Given the description of an element on the screen output the (x, y) to click on. 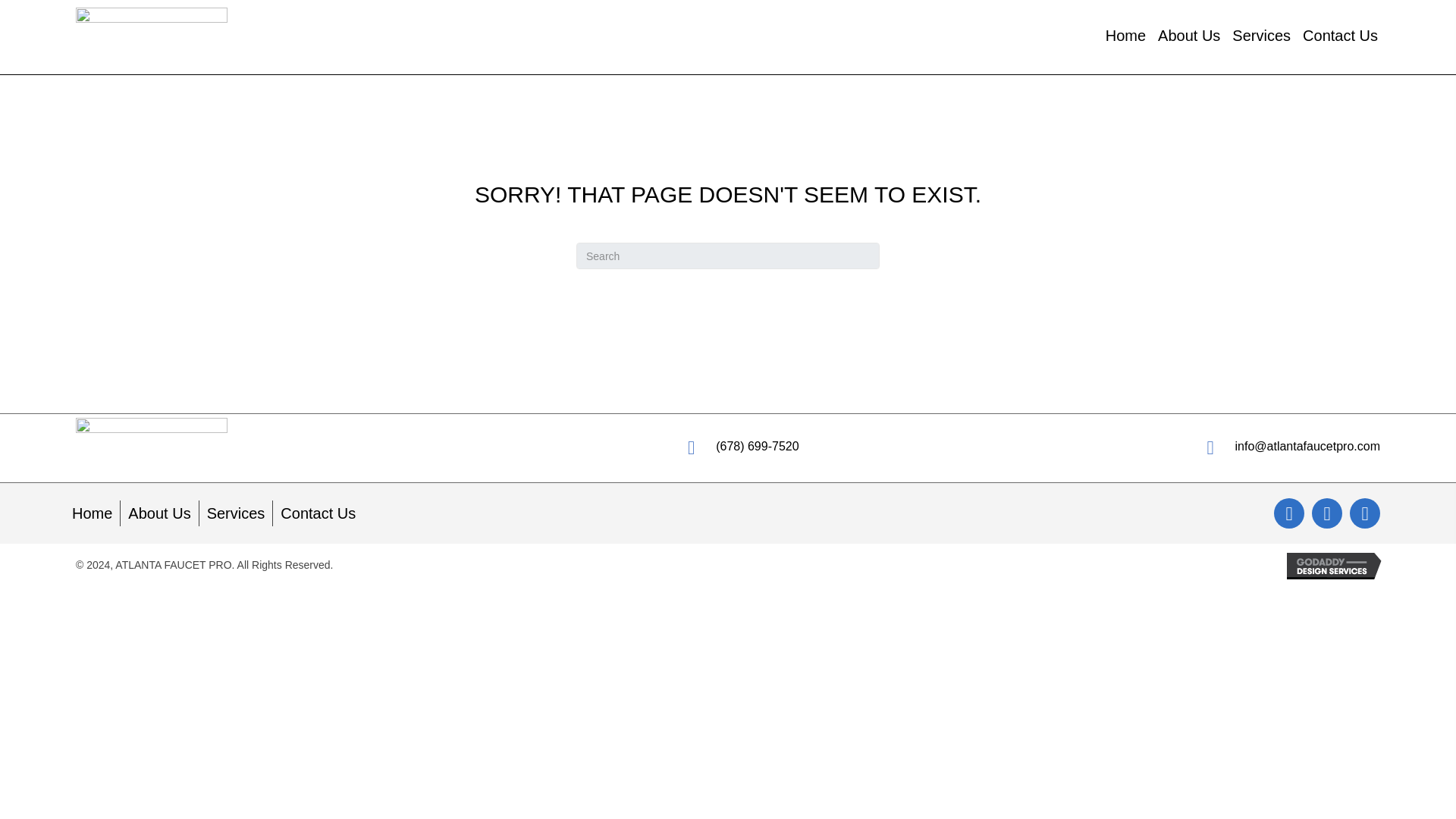
Services (1260, 37)
About Us (1188, 37)
Contact Us (1340, 37)
Facebook (1289, 512)
Google (1364, 512)
Services (236, 513)
Home (91, 513)
About Us (159, 513)
Home (1125, 37)
Type and press Enter to search. (727, 255)
